Given the description of an element on the screen output the (x, y) to click on. 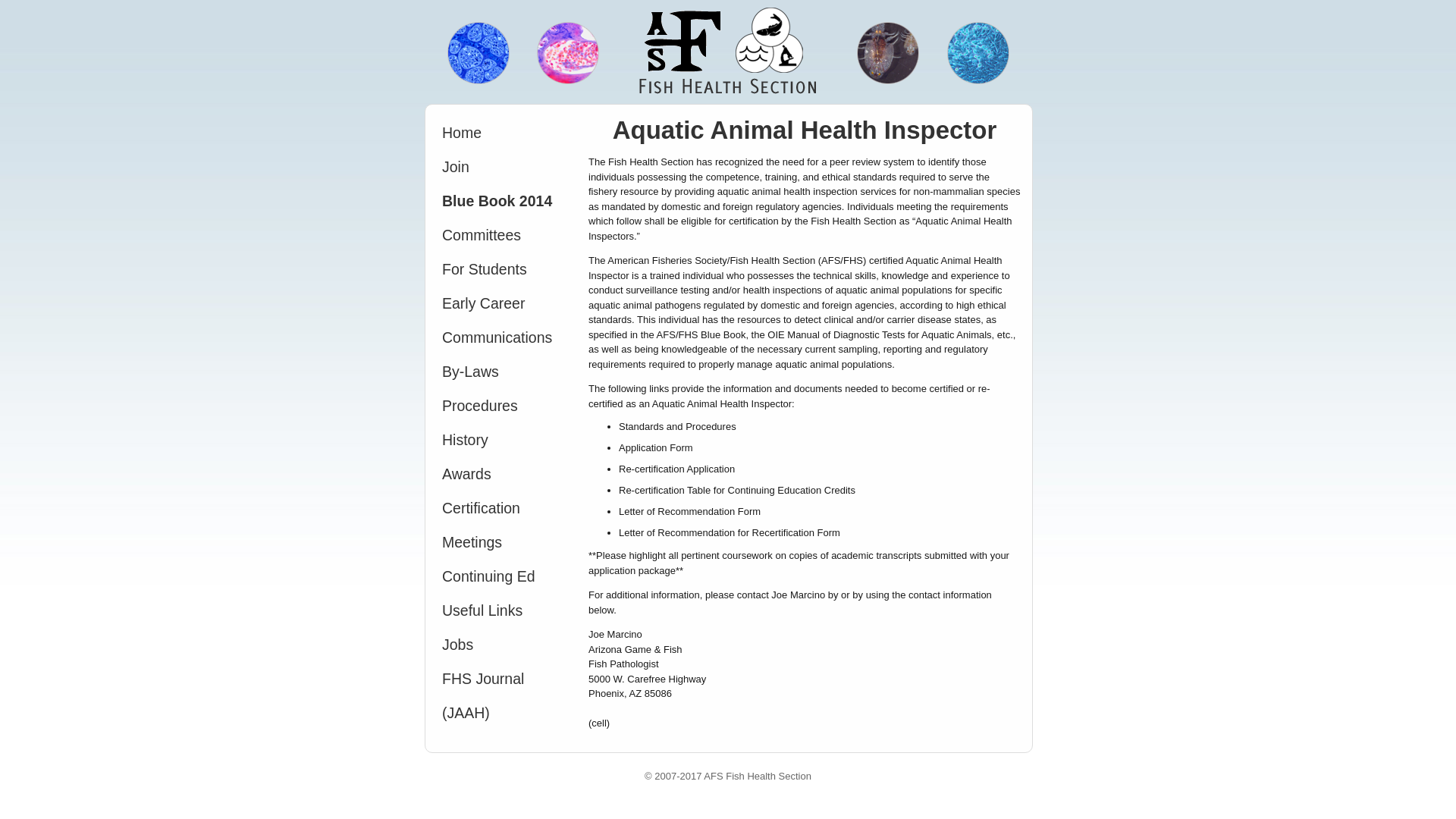
Continuing Ed (503, 576)
Awards (503, 474)
Early Career (503, 303)
Certification (503, 508)
For Students (503, 269)
Home (503, 132)
Committees (503, 235)
Blue Book 2014 (503, 201)
Meetings (503, 542)
Communications (503, 337)
